Given the description of an element on the screen output the (x, y) to click on. 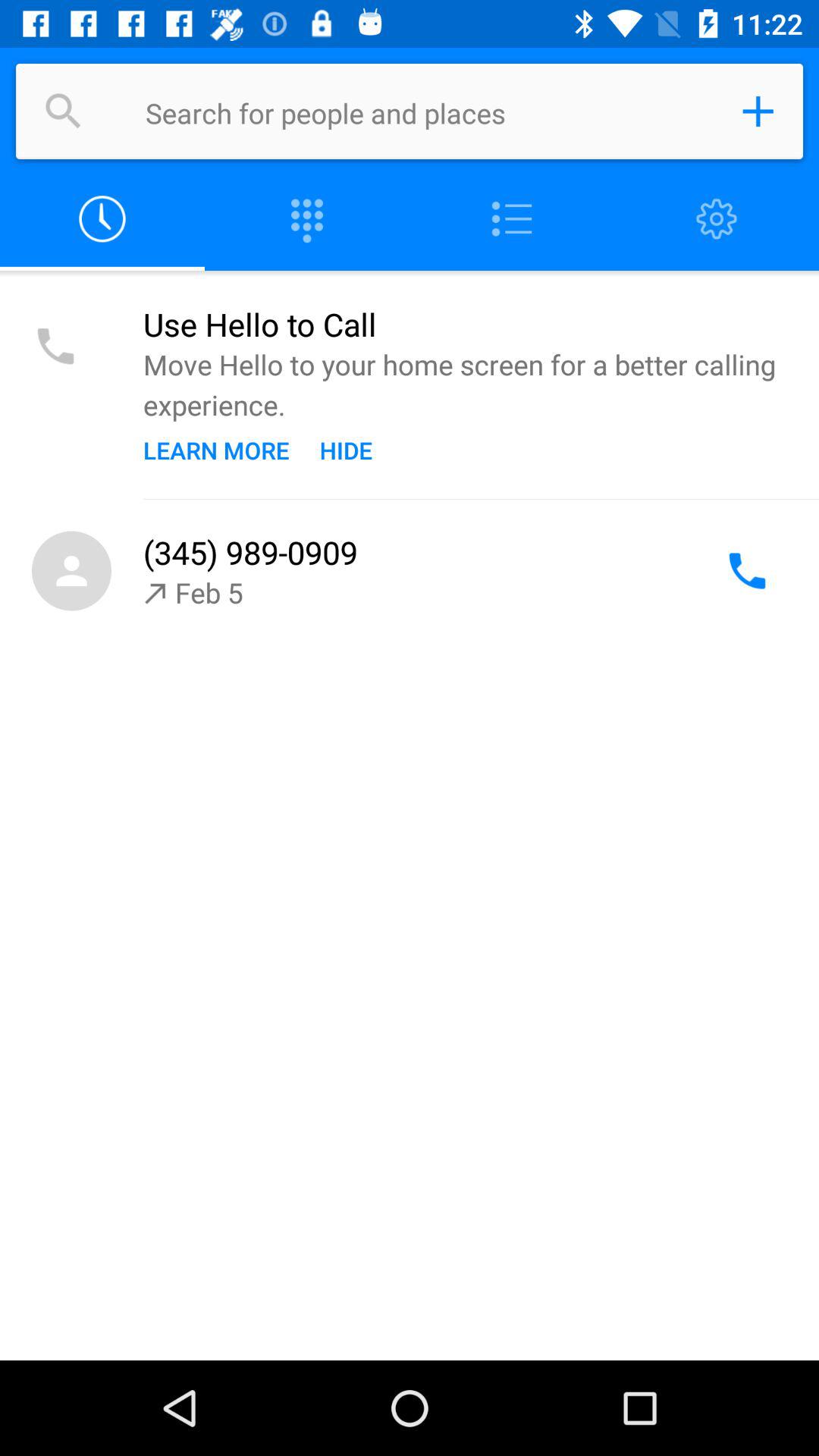
switch to settings (716, 219)
